Given the description of an element on the screen output the (x, y) to click on. 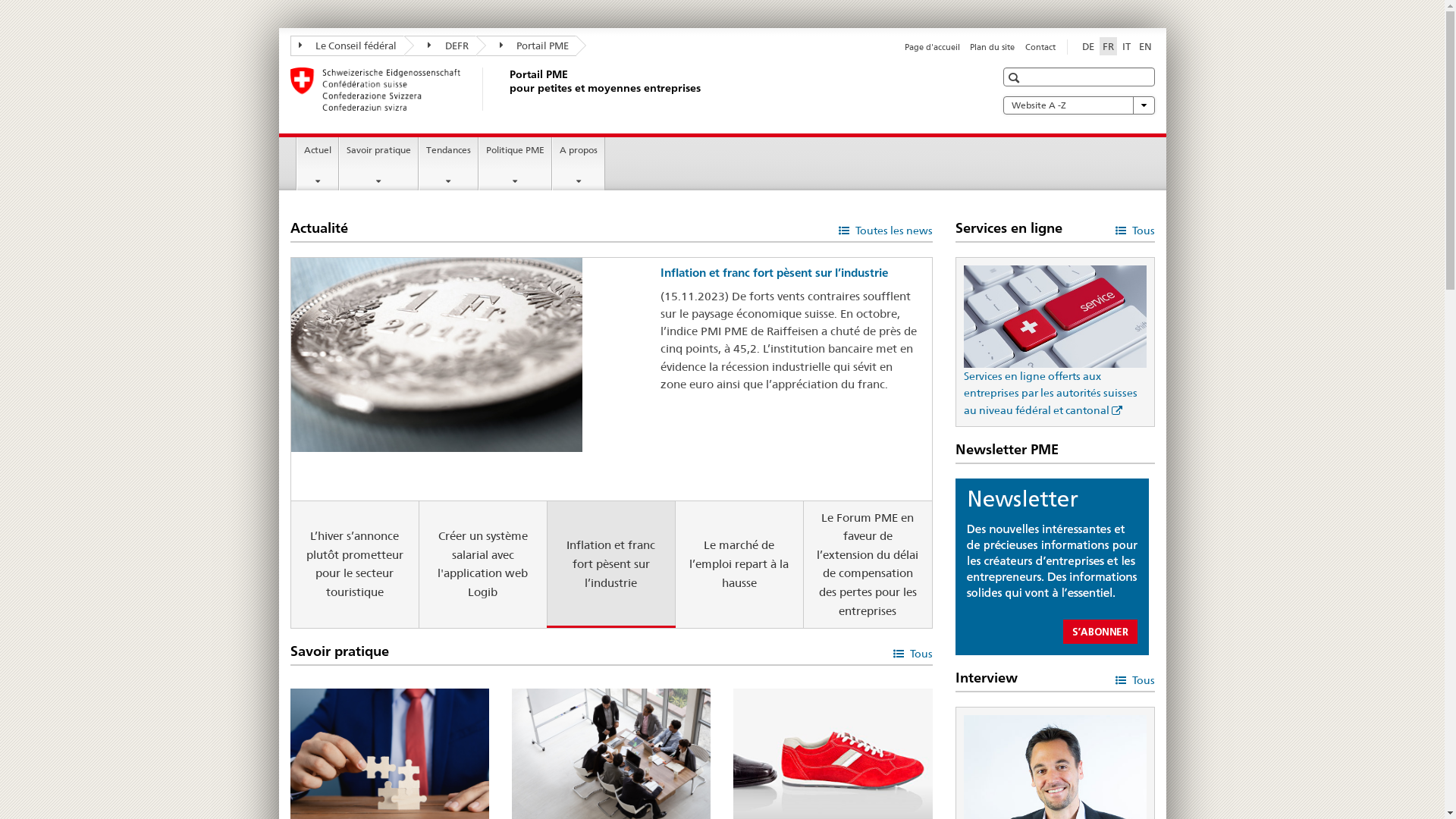
Contact Element type: text (1040, 46)
Page d'accueil Element type: text (932, 46)
Plan du site Element type: text (991, 46)
Tous Element type: text (1134, 228)
IT Element type: text (1126, 46)
A propos Element type: text (578, 163)
Tous Element type: text (912, 652)
Savoir pratique Element type: text (378, 163)
Actuel Element type: text (317, 163)
Portail PME
pour petites et moyennes entreprises Element type: text (505, 88)
FR Element type: text (1108, 46)
DE Element type: text (1087, 46)
Portail PME Element type: text (526, 45)
Politique PME Element type: text (515, 163)
DEFR Element type: text (440, 45)
Toutes les news Element type: text (885, 228)
EN Element type: text (1144, 46)
Tous Element type: text (1134, 678)
Website A -Z Element type: text (1078, 105)
Tendances Element type: text (448, 163)
